Given the description of an element on the screen output the (x, y) to click on. 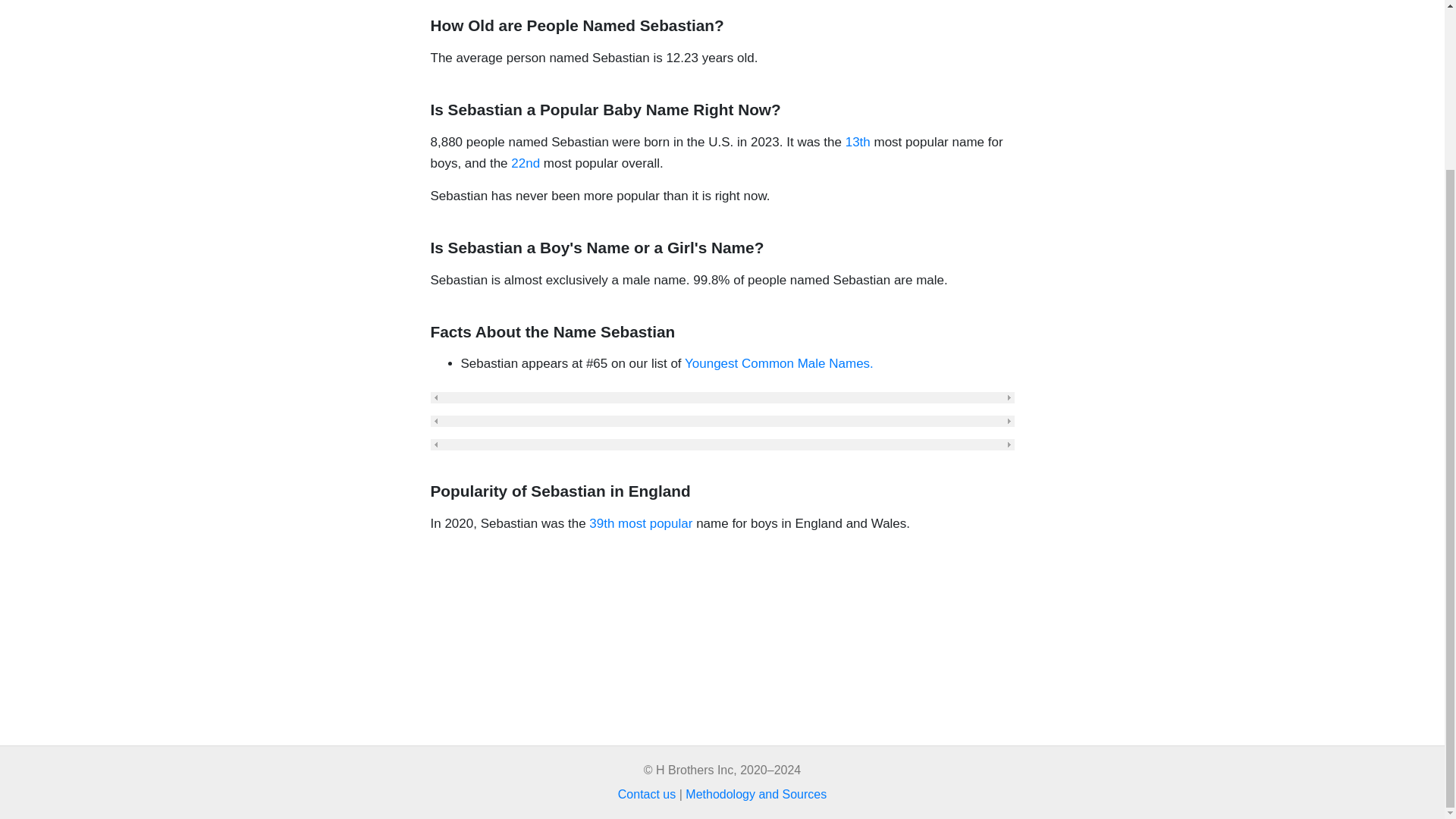
13th (857, 142)
39th most popular (641, 523)
Contact us (646, 793)
Youngest Common Male Names. (778, 363)
22nd (525, 163)
Methodology and Sources (756, 793)
